Given the description of an element on the screen output the (x, y) to click on. 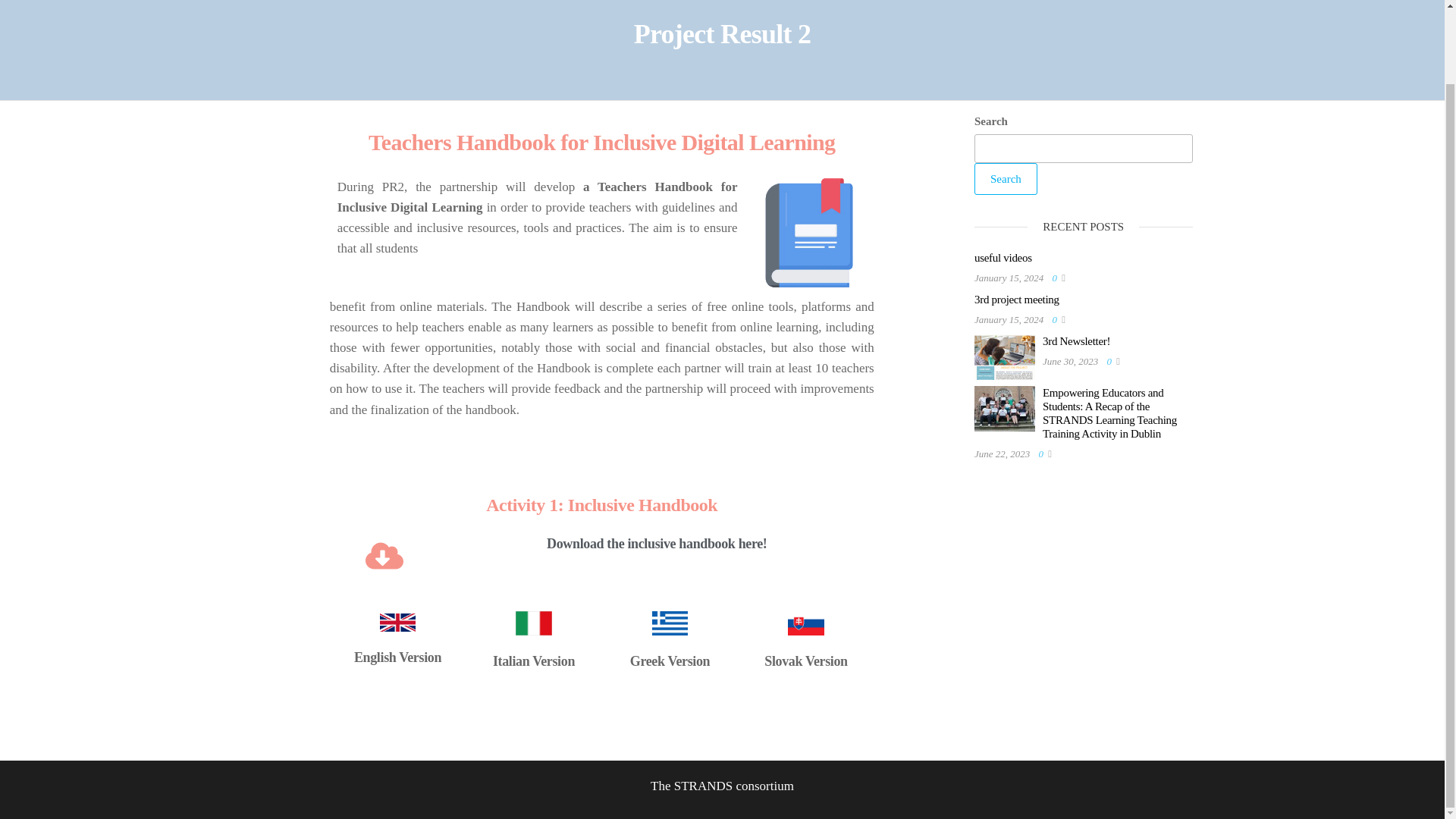
useful videos (1003, 257)
Greek Version (670, 661)
Search (1005, 178)
3rd project meeting (1016, 299)
Italian Version (534, 661)
Slovak Version (805, 661)
3rd Newsletter! (1075, 340)
English Version (397, 657)
